Given the description of an element on the screen output the (x, y) to click on. 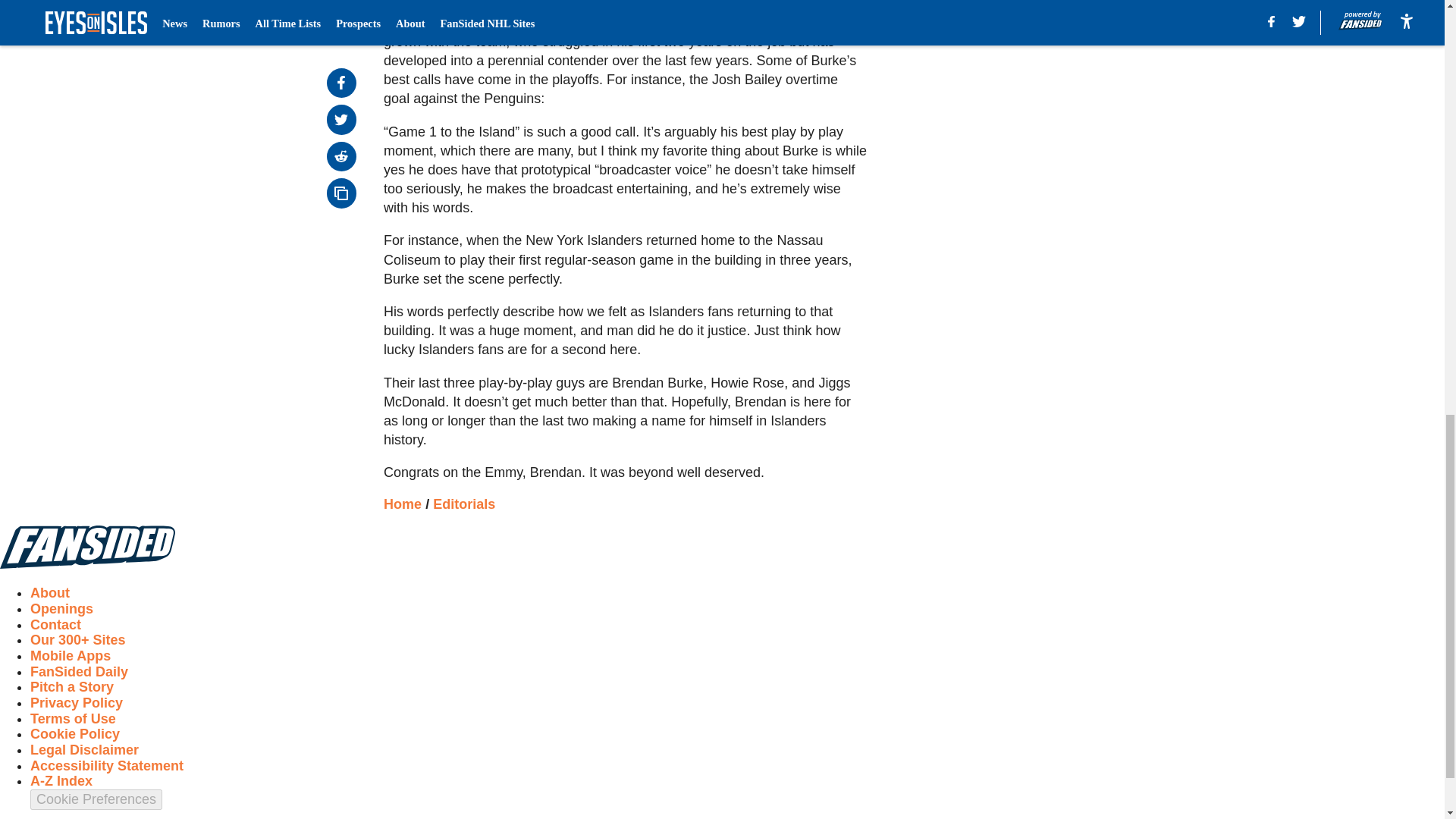
Editorials (463, 503)
Cookie Policy (74, 734)
Privacy Policy (76, 702)
About (49, 592)
Legal Disclaimer (84, 749)
FanSided Daily (79, 671)
Pitch a Story (71, 686)
Home (403, 503)
Contact (55, 624)
Terms of Use (73, 718)
